Given the description of an element on the screen output the (x, y) to click on. 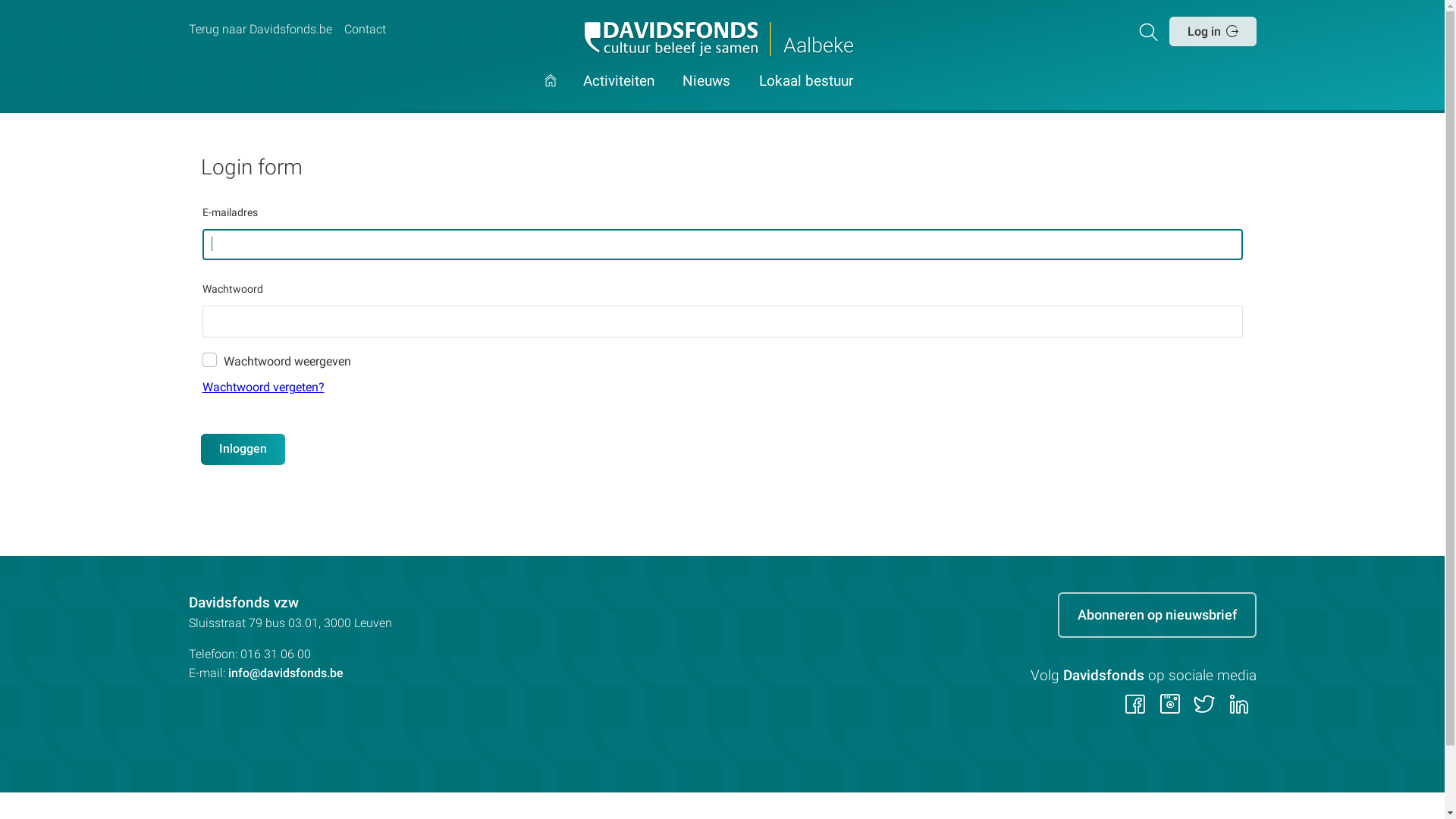
Volg ons op Twitter Element type: text (1204, 705)
Hoofdpagina Element type: text (550, 93)
Volg ons op Instagram Element type: text (1169, 705)
Zoeken Element type: text (1150, 31)
Nieuws Element type: text (706, 93)
Log in Element type: text (1212, 30)
Contact Element type: text (364, 30)
Volg ons op Facebook Element type: text (1135, 705)
Inloggen Element type: text (242, 448)
Terug naar Davidsfonds.be Element type: text (259, 30)
Abonneren op nieuwsbrief Element type: text (1156, 614)
Activiteiten Element type: text (618, 93)
Lokaal bestuur Element type: text (806, 93)
Volg ons op LinkedIn Element type: text (1238, 705)
Wachtwoord vergeten? Element type: text (721, 387)
Aalbeke Element type: text (721, 38)
